Given the description of an element on the screen output the (x, y) to click on. 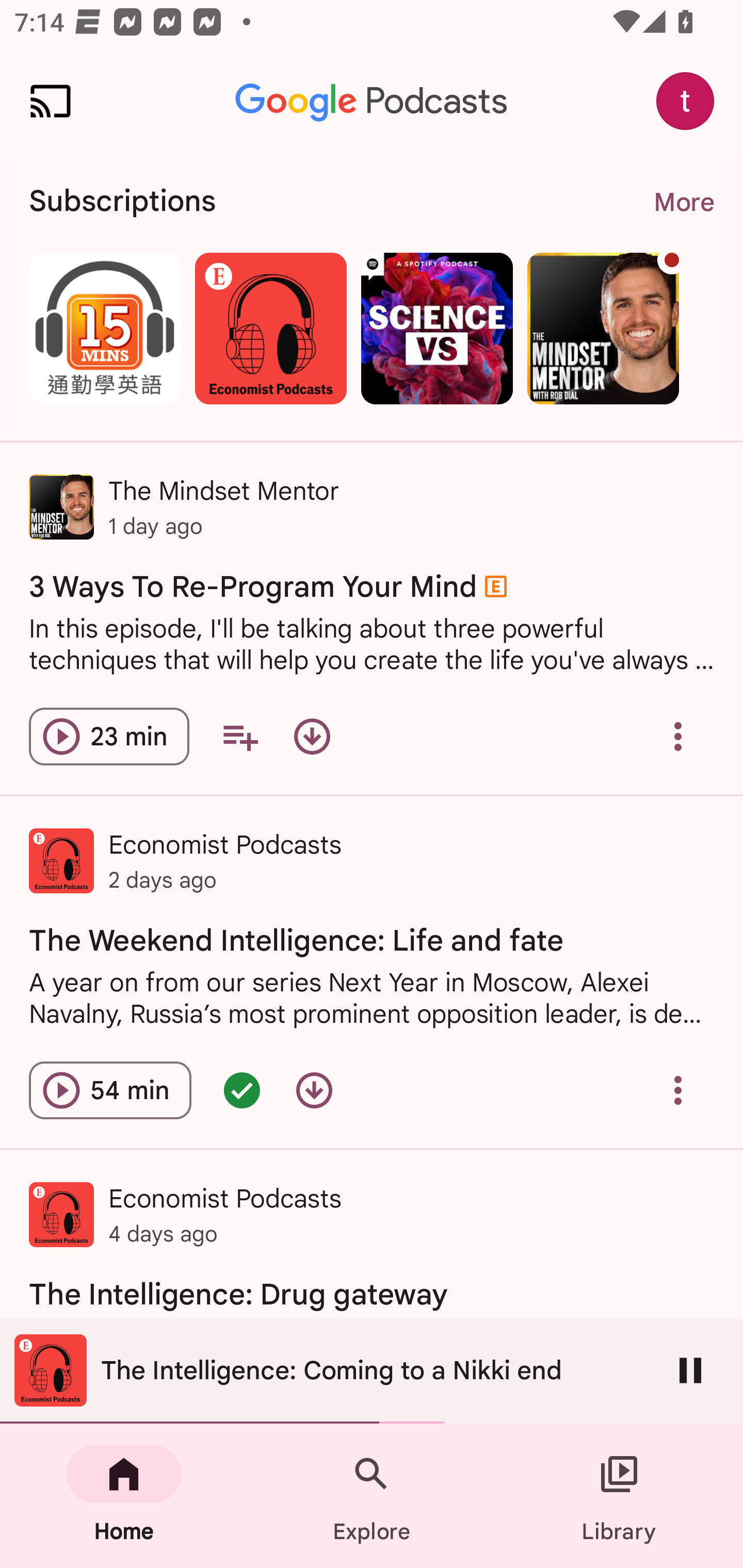
Cast. Disconnected (50, 101)
More More. Navigate to subscriptions page. (683, 202)
通勤學英語 15Mins Today (104, 328)
Economist Podcasts (270, 328)
Science Vs (436, 328)
The Mindset Mentor (603, 328)
Play episode 3 Ways To Re-Program Your Mind 23 min (108, 736)
Add to your queue (239, 736)
Download episode (312, 736)
Overflow menu (677, 736)
Episode queued - double tap for options (241, 1090)
Download episode (313, 1090)
Overflow menu (677, 1090)
Pause (690, 1370)
Explore (371, 1495)
Library (619, 1495)
